Given the description of an element on the screen output the (x, y) to click on. 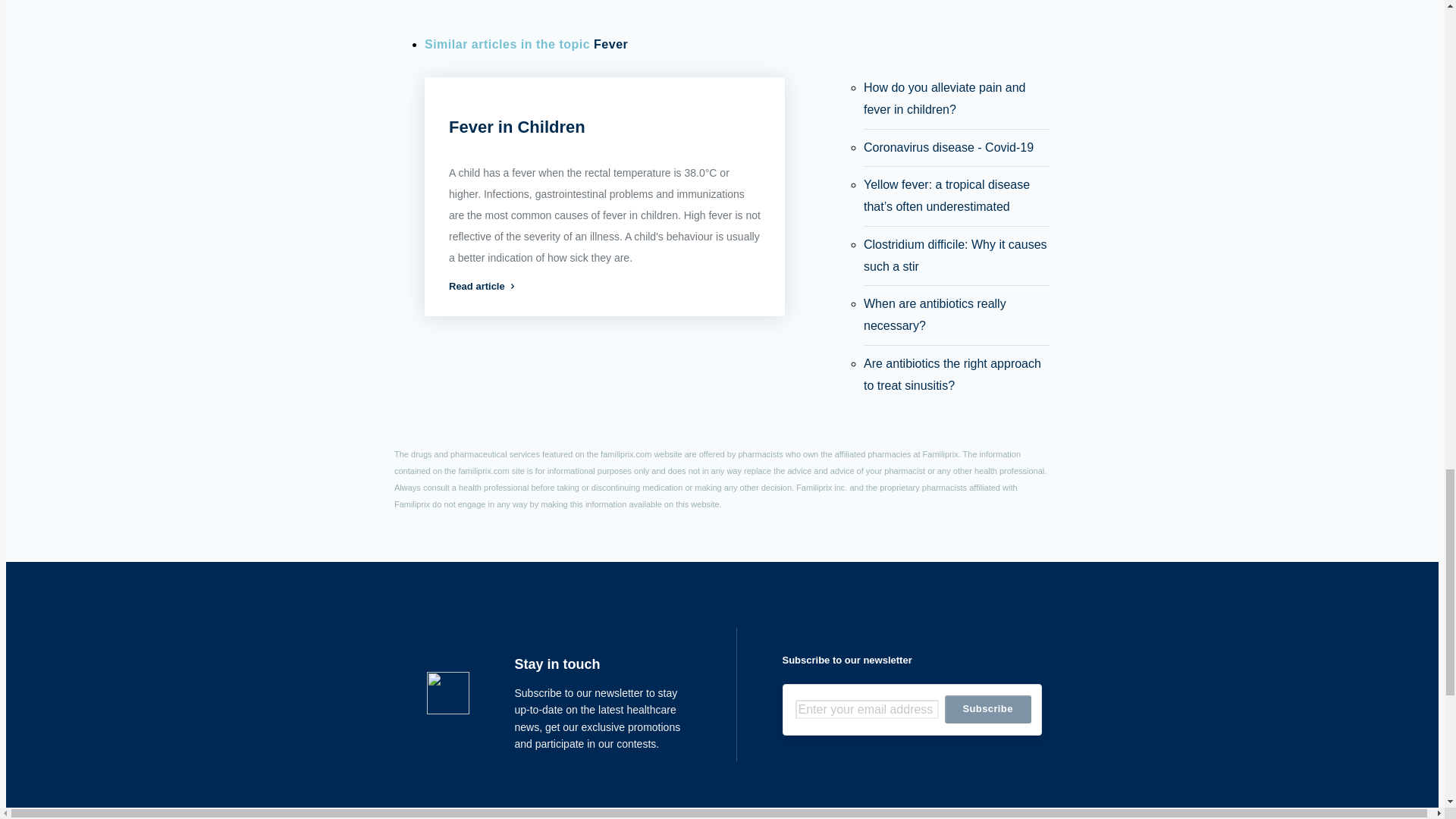
Clostridium difficile: Why it causes such a stir (954, 255)
Fever (610, 44)
Coronavirus disease - Covid-19 (948, 146)
Subscribe (987, 708)
Read article (604, 285)
Are antibiotics the right approach to treat sinusitis? (952, 374)
Fever in Children (516, 126)
How do you alleviate pain and fever in children? (944, 98)
When are antibiotics really necessary? (934, 314)
